Given the description of an element on the screen output the (x, y) to click on. 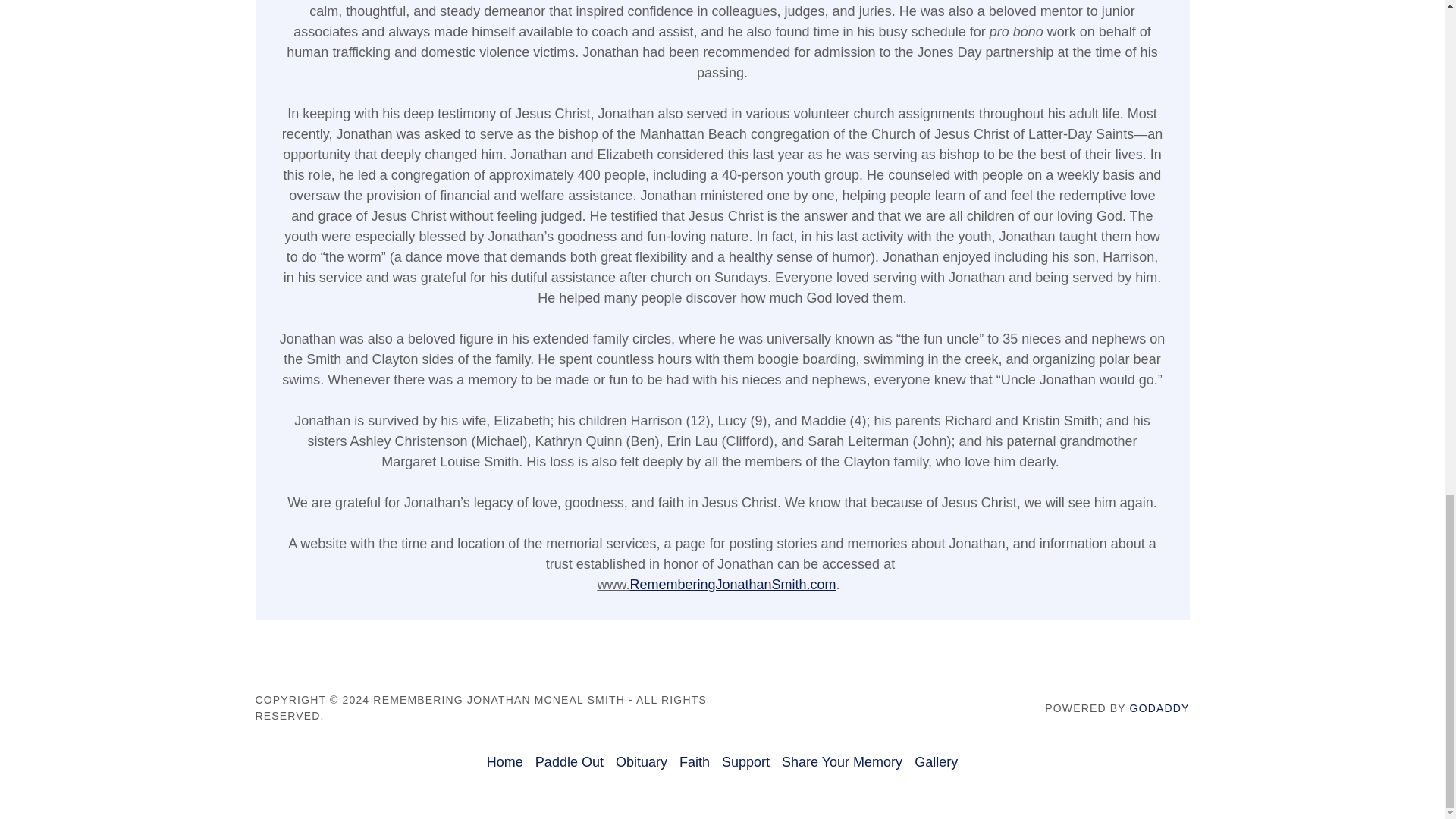
Obituary (641, 762)
Home (504, 762)
Gallery (935, 762)
RememberingJonathanSmith.com (731, 584)
Share Your Memory (842, 762)
Support (746, 762)
Faith (694, 762)
GODADDY (1159, 707)
Paddle Out (569, 762)
